Given the description of an element on the screen output the (x, y) to click on. 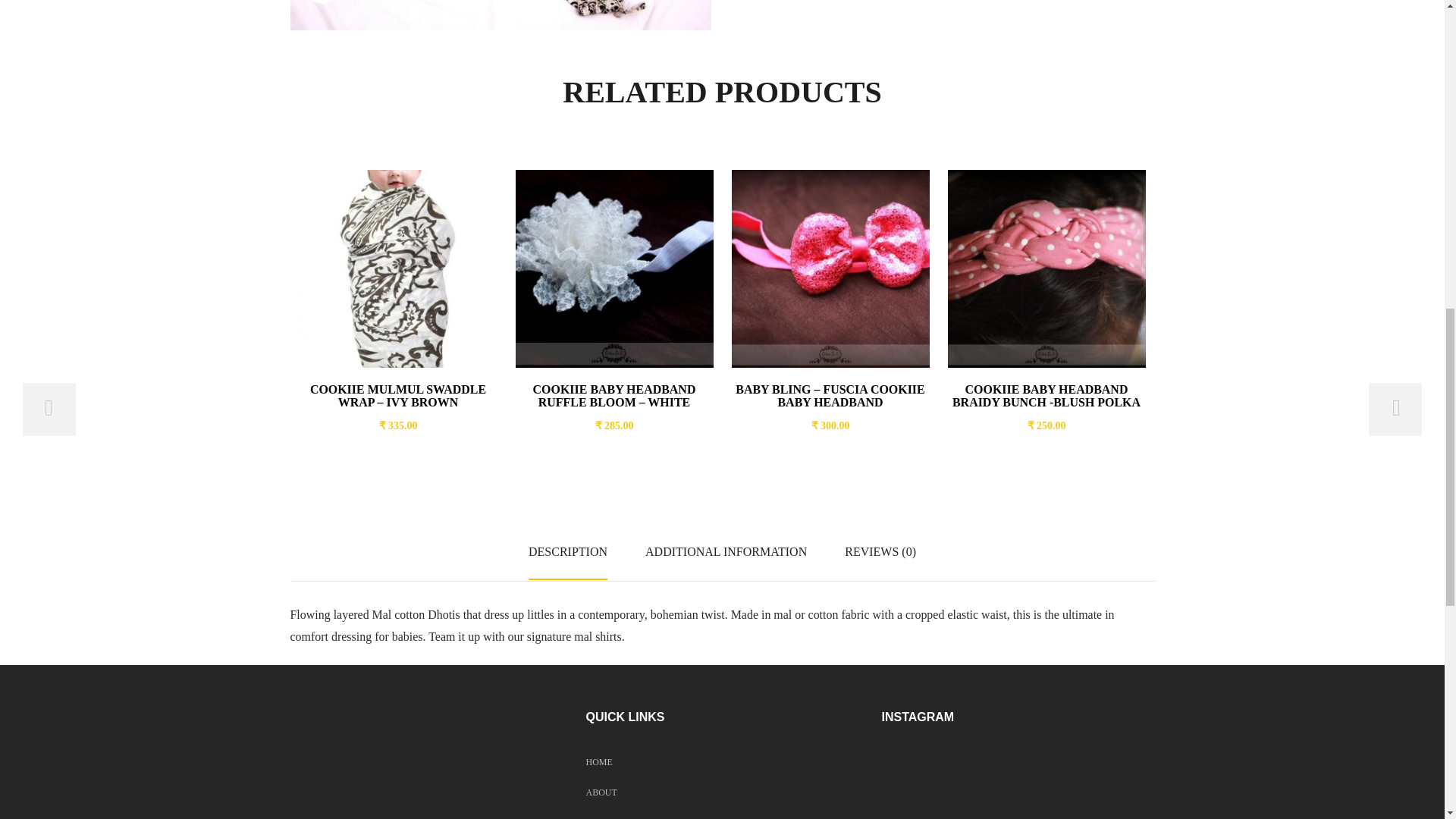
dhoti-poppy (499, 15)
